Given the description of an element on the screen output the (x, y) to click on. 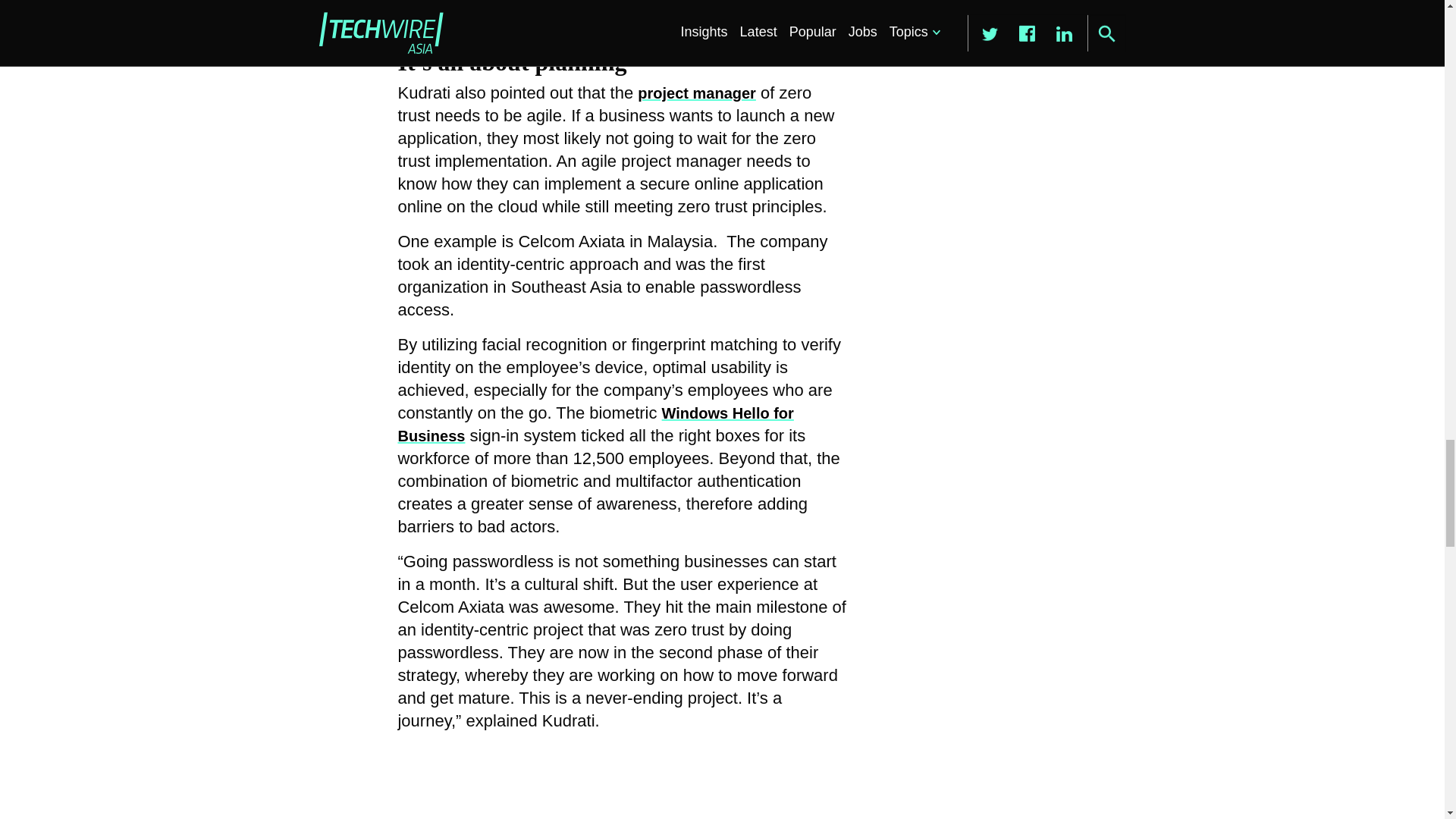
YouTube video player (609, 781)
